Given the description of an element on the screen output the (x, y) to click on. 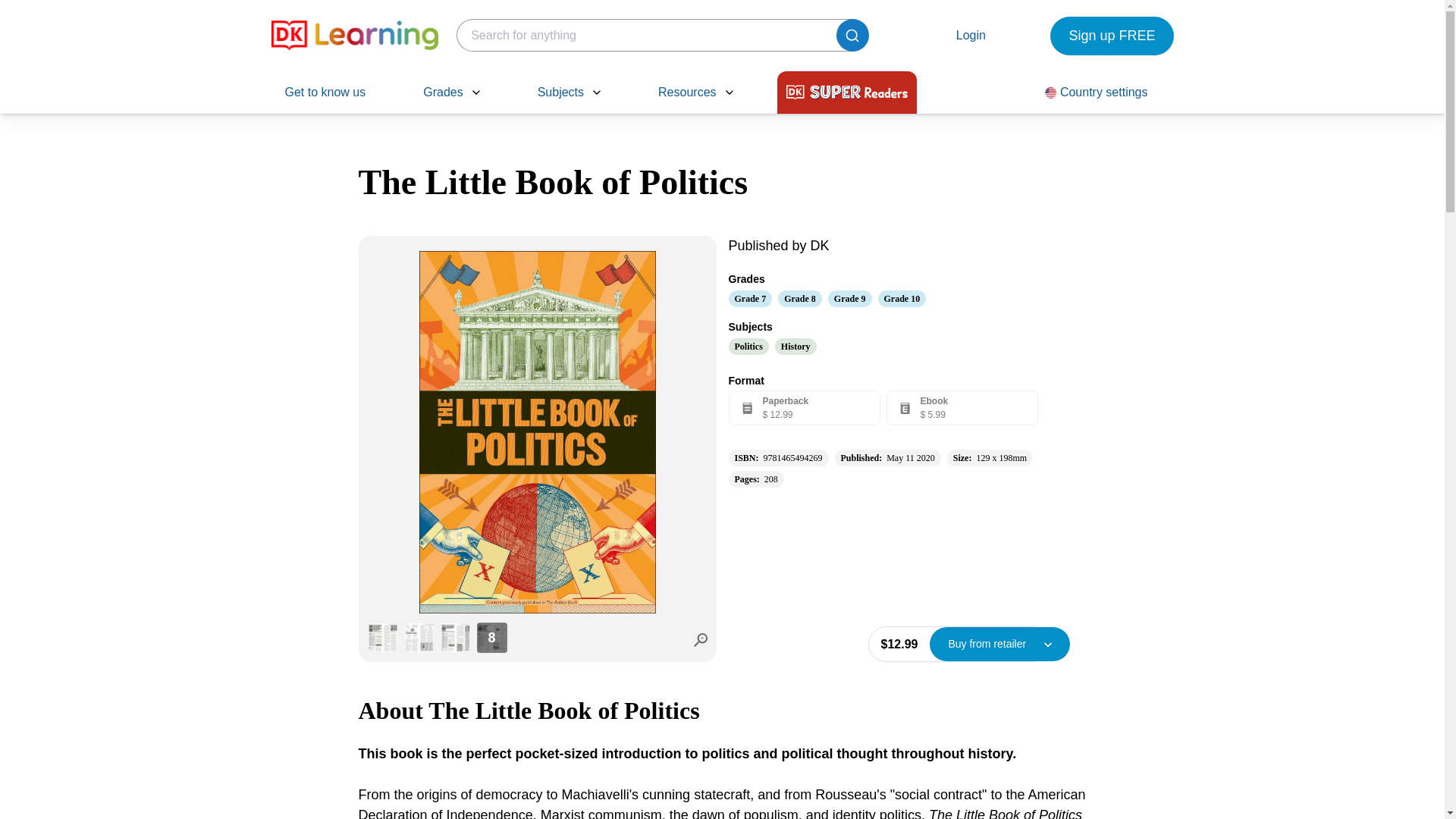
Login (979, 35)
Sign up FREE (1111, 35)
Submit (852, 34)
